Given the description of an element on the screen output the (x, y) to click on. 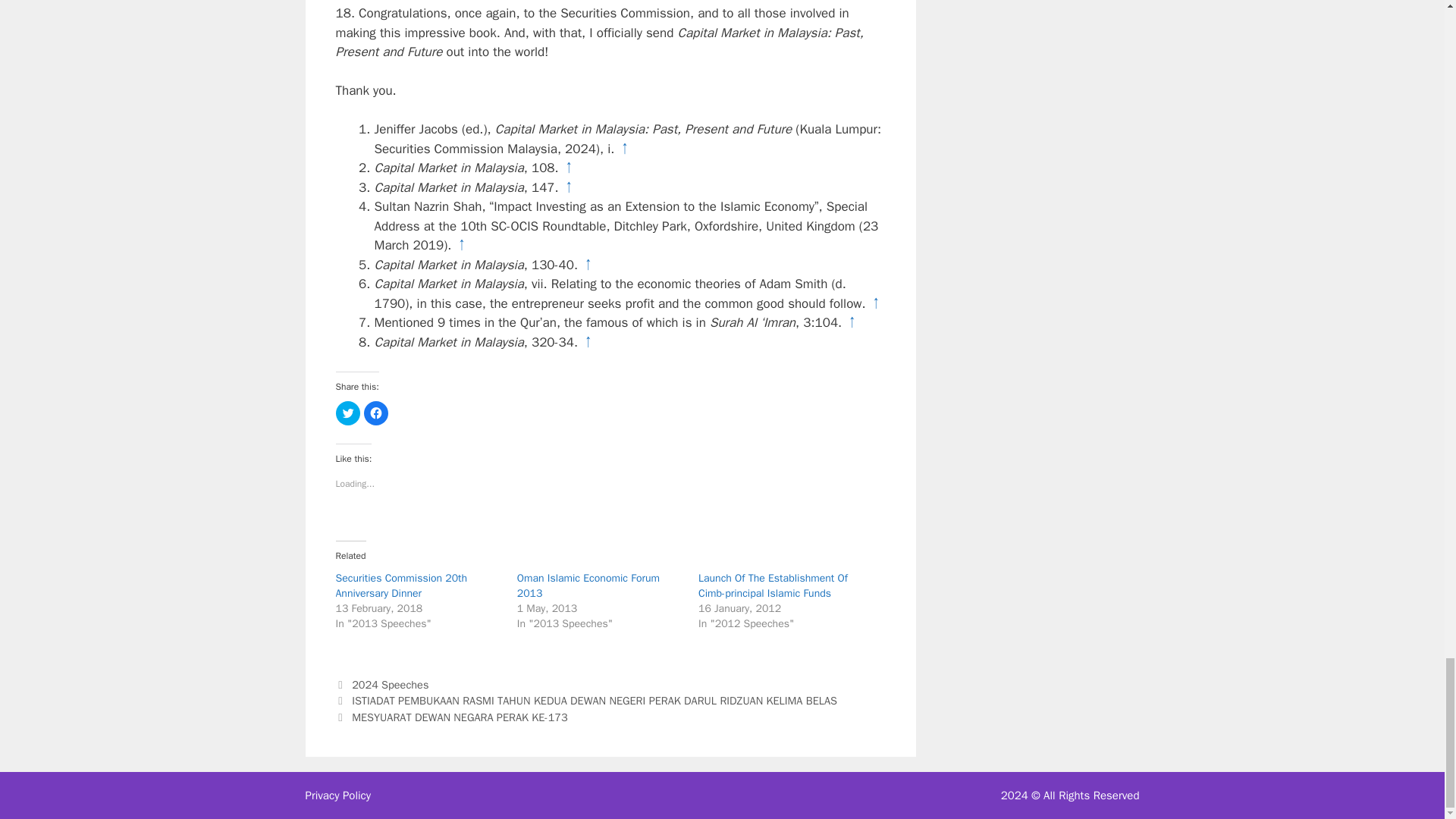
Launch Of The Establishment Of Cimb-principal Islamic Funds (772, 585)
Oman Islamic Economic Forum 2013 (587, 585)
Securities Commission 20th Anniversary Dinner (400, 585)
Click to share on Facebook (376, 413)
Launch Of The Establishment Of Cimb-principal Islamic Funds (772, 585)
MESYUARAT DEWAN NEGARA PERAK KE-173 (459, 716)
Click to share on Twitter (346, 413)
2024 Speeches (390, 684)
Securities Commission 20th Anniversary Dinner (400, 585)
Oman Islamic Economic Forum 2013 (587, 585)
